Given the description of an element on the screen output the (x, y) to click on. 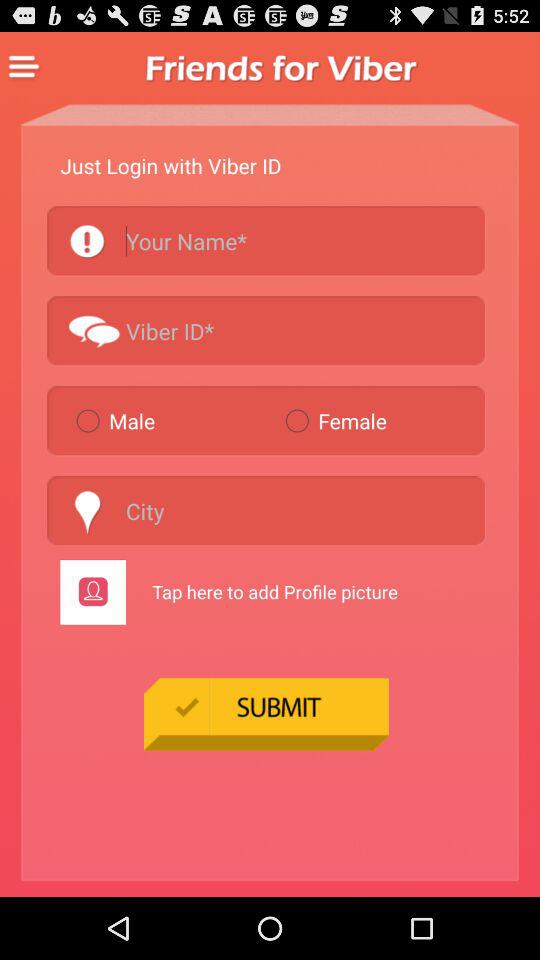
toggle autoplay option (266, 240)
